Given the description of an element on the screen output the (x, y) to click on. 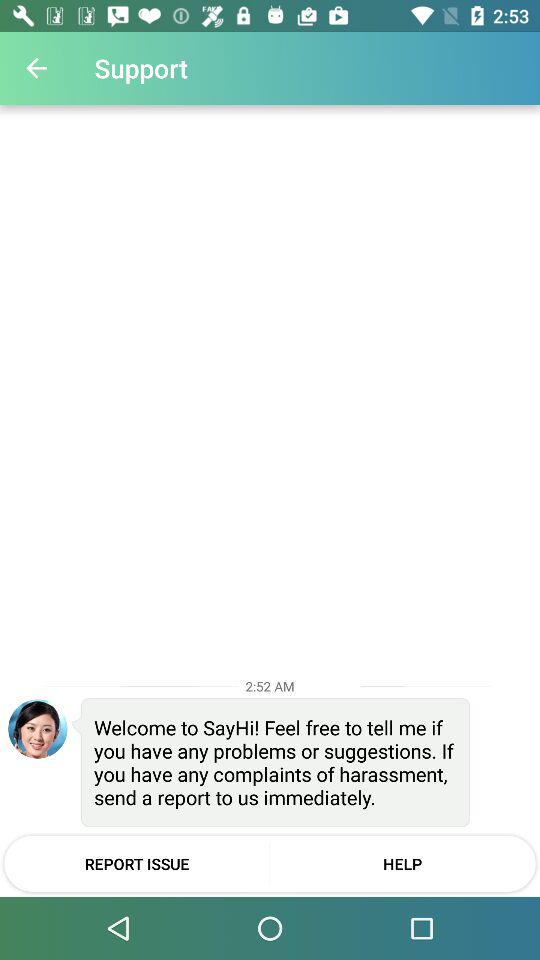
choose item below the welcome to sayhi (136, 863)
